Given the description of an element on the screen output the (x, y) to click on. 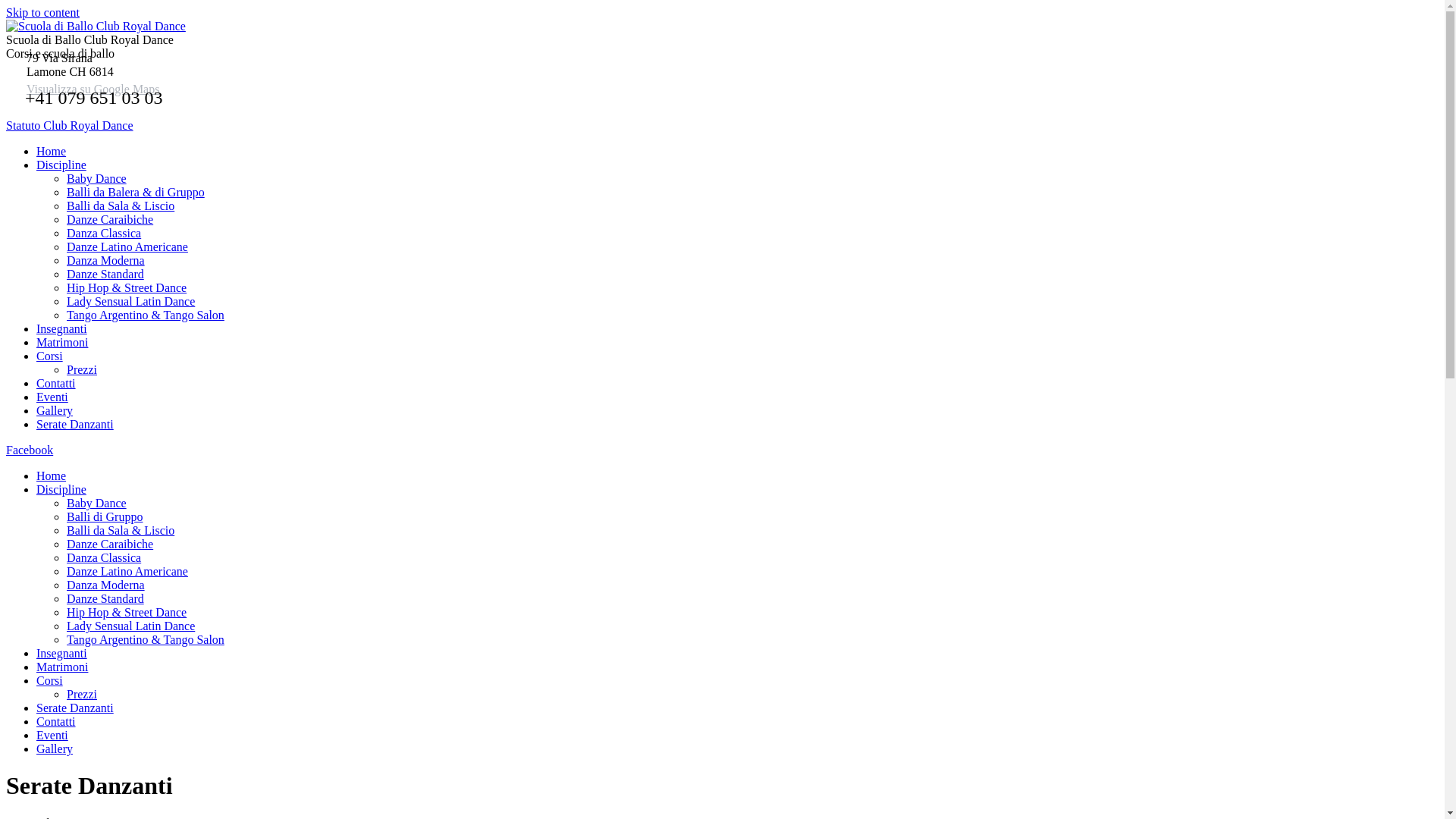
Corsi Element type: text (49, 680)
Gallery Element type: text (54, 410)
Hip Hop & Street Dance Element type: text (126, 287)
Discipline Element type: text (61, 489)
Danza Moderna Element type: text (105, 260)
Prezzi Element type: text (81, 369)
Tango Argentino & Tango Salon Element type: text (145, 639)
Danza Classica Element type: text (103, 557)
Danze Standard Element type: text (105, 598)
Baby Dance Element type: text (96, 178)
Statuto Club Royal Dance Element type: text (69, 125)
Balli da Sala & Liscio Element type: text (120, 530)
Hip Hop & Street Dance Element type: text (126, 611)
Balli da Balera & di Gruppo Element type: text (135, 191)
Home Element type: text (50, 150)
Lady Sensual Latin Dance Element type: text (130, 625)
Danze Latino Americane Element type: text (127, 246)
Eventi Element type: text (52, 734)
Matrimoni Element type: text (61, 666)
Prezzi Element type: text (81, 693)
Gallery Element type: text (54, 748)
Discipline Element type: text (61, 164)
Lady Sensual Latin Dance Element type: text (130, 300)
Danza Classica Element type: text (103, 232)
Contatti Element type: text (55, 721)
Insegnanti Element type: text (61, 652)
Facebook Element type: text (29, 449)
Skip to content Element type: text (42, 12)
Baby Dance Element type: text (96, 502)
Serate Danzanti Element type: text (74, 707)
Balli di Gruppo Element type: text (104, 516)
Corsi Element type: text (49, 355)
Tango Argentino & Tango Salon Element type: text (145, 314)
Danze Standard Element type: text (105, 273)
Insegnanti Element type: text (61, 328)
Matrimoni Element type: text (61, 341)
Balli da Sala & Liscio Element type: text (120, 205)
Danza Moderna Element type: text (105, 584)
Home Element type: text (50, 475)
Visualizza su Google Maps Element type: text (92, 88)
Eventi Element type: text (52, 396)
Danze Latino Americane Element type: text (127, 570)
Serate Danzanti Element type: text (74, 423)
Danze Caraibiche Element type: text (109, 219)
Contatti Element type: text (55, 382)
Danze Caraibiche Element type: text (109, 543)
